Given the description of an element on the screen output the (x, y) to click on. 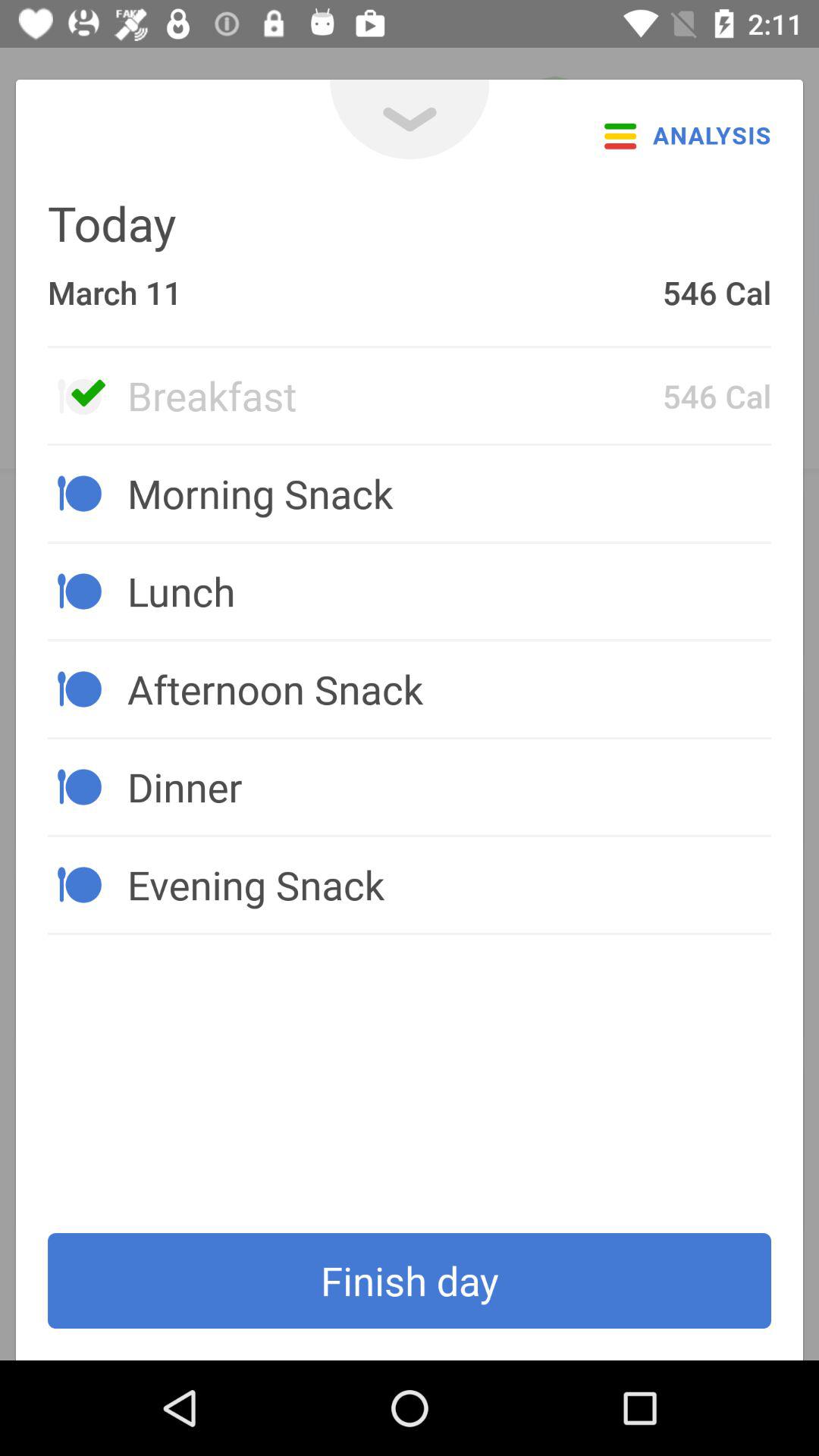
click icon to the left of 546 cal item (394, 395)
